Given the description of an element on the screen output the (x, y) to click on. 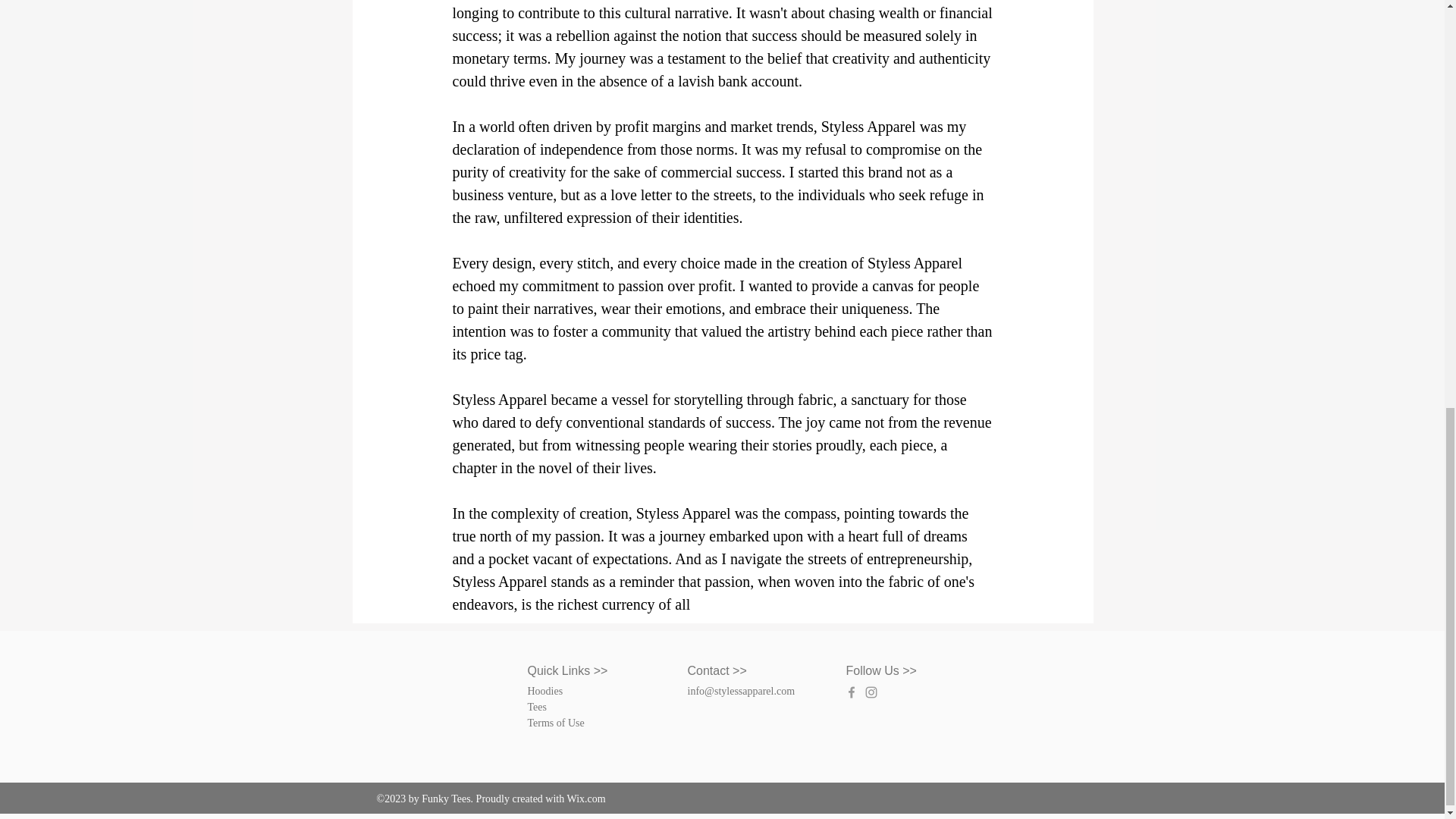
Wix.com (586, 798)
Terms of Use (556, 722)
Tees (537, 706)
Hoodies (545, 690)
